Given the description of an element on the screen output the (x, y) to click on. 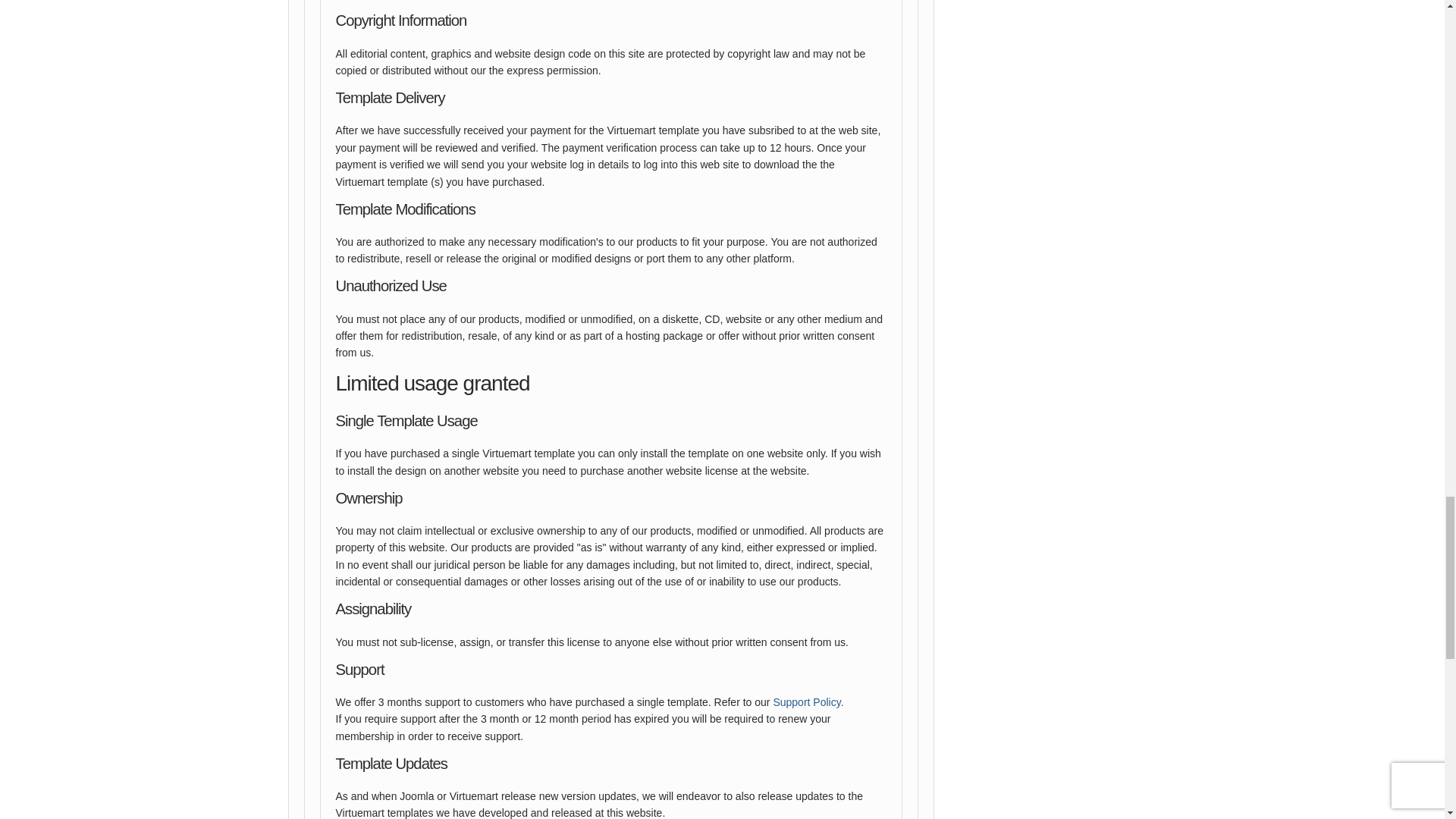
Support Policy. (808, 702)
